Given the description of an element on the screen output the (x, y) to click on. 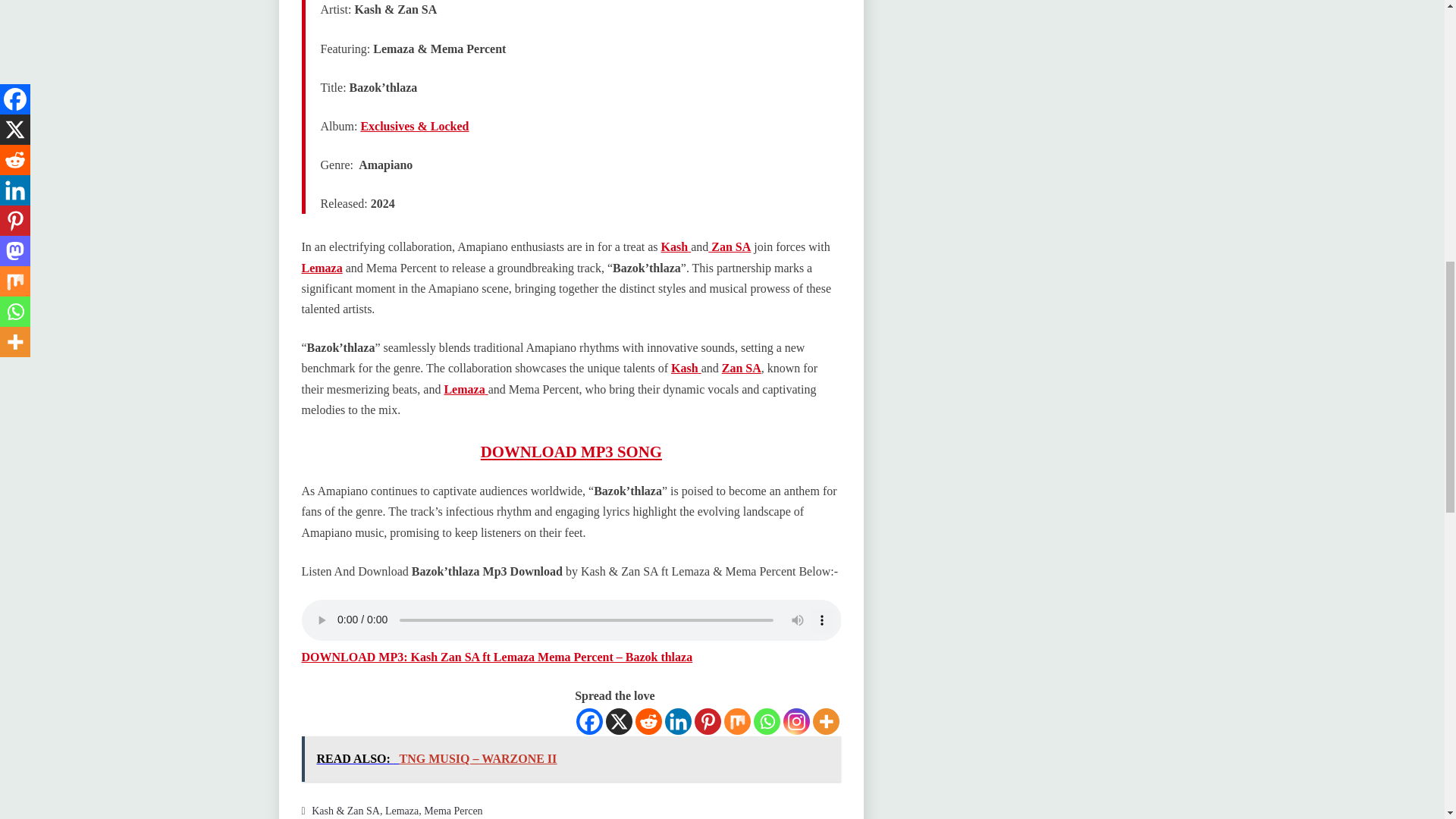
Instagram (796, 721)
Kash (686, 367)
Lemaza (321, 267)
Pinterest (707, 721)
Zan SA (741, 367)
Linkedin (678, 721)
More (826, 721)
Kash (676, 246)
DOWNLOAD MP3 SONG (571, 451)
Facebook (589, 721)
